Given the description of an element on the screen output the (x, y) to click on. 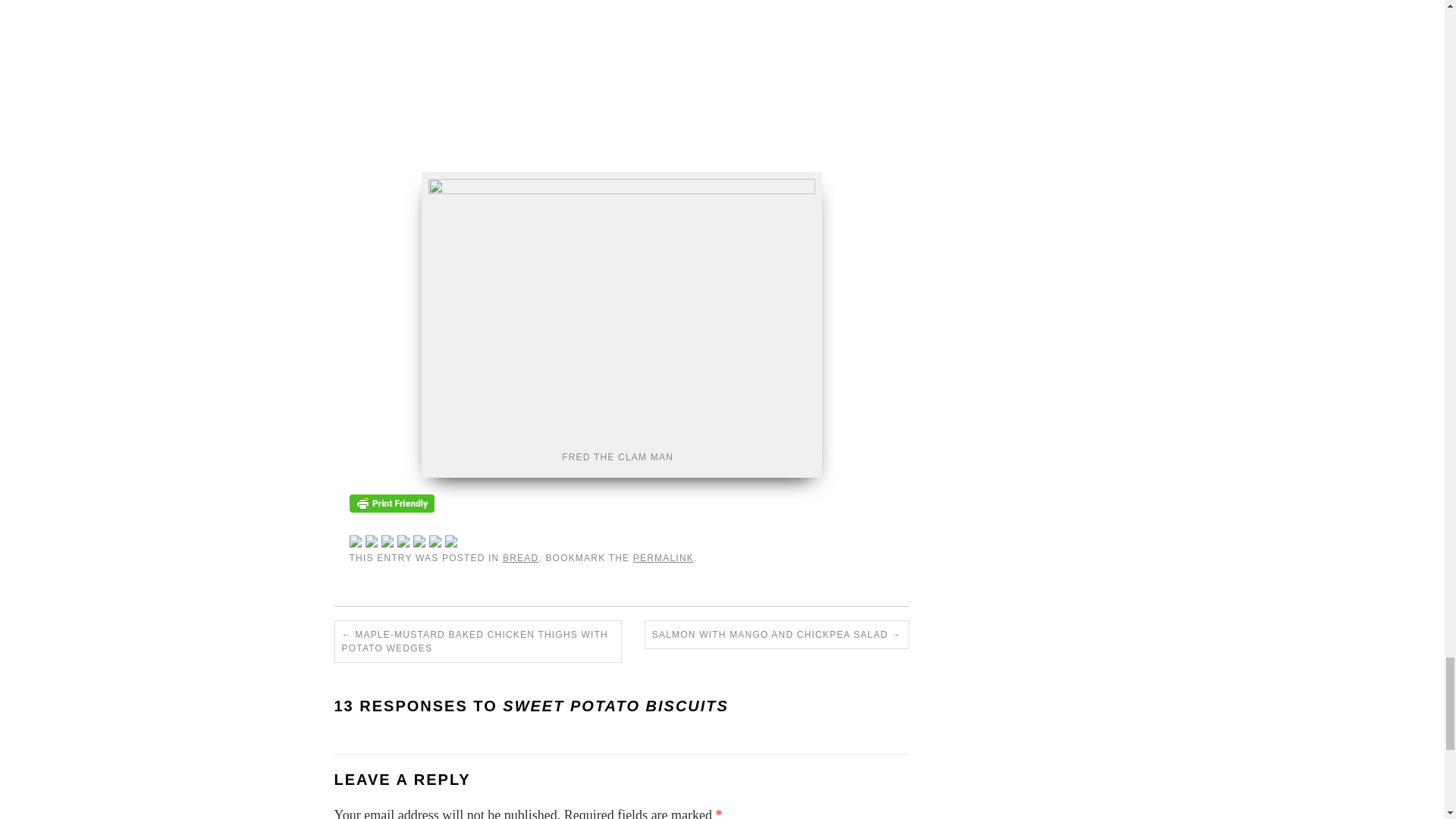
PERMALINK (663, 557)
BREAD (520, 557)
